Given the description of an element on the screen output the (x, y) to click on. 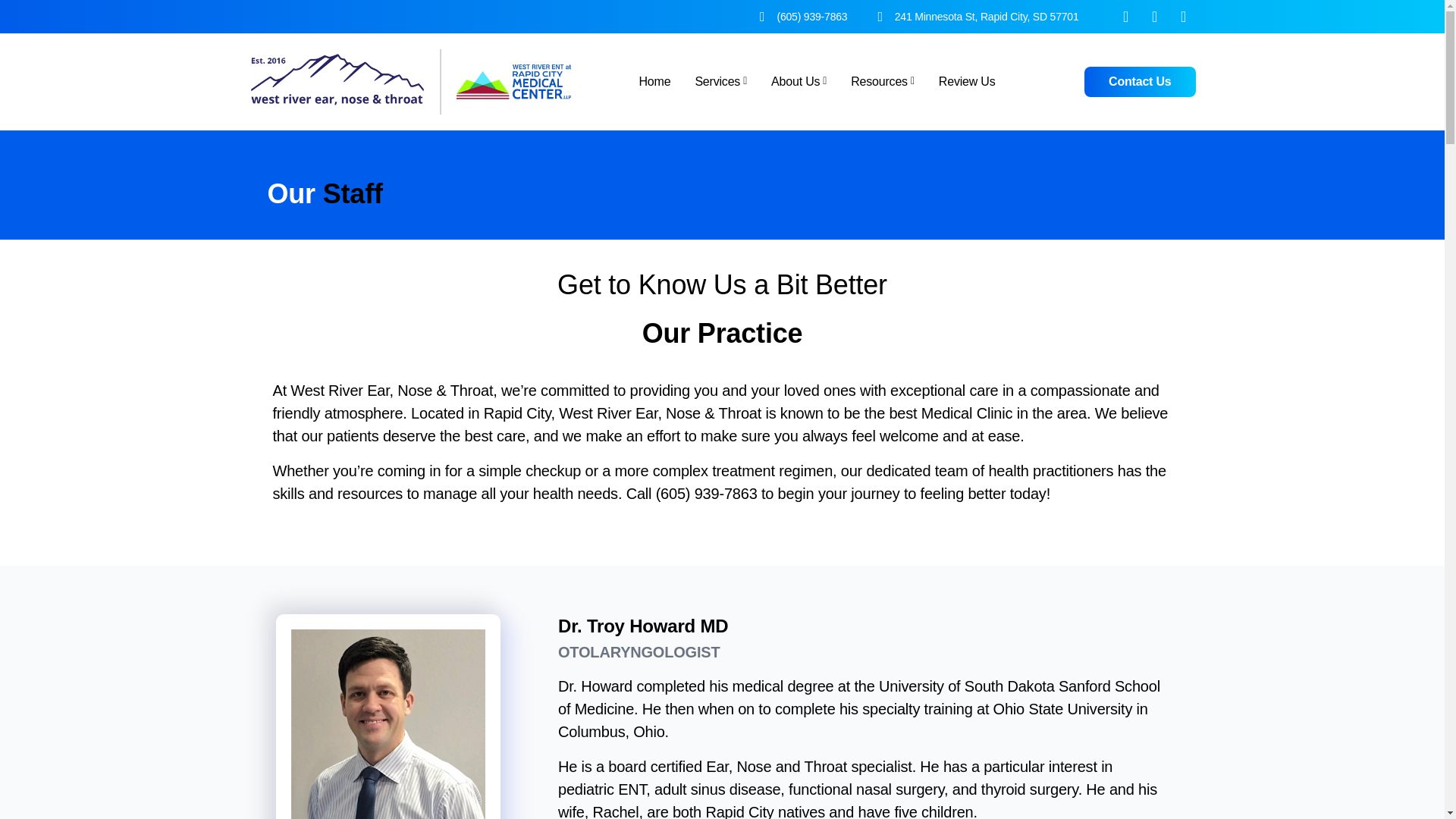
Cancer Care (876, 108)
241 Minnesota St, Rapid City, SD 57701 (977, 16)
Home (654, 81)
Services (720, 81)
